Given the description of an element on the screen output the (x, y) to click on. 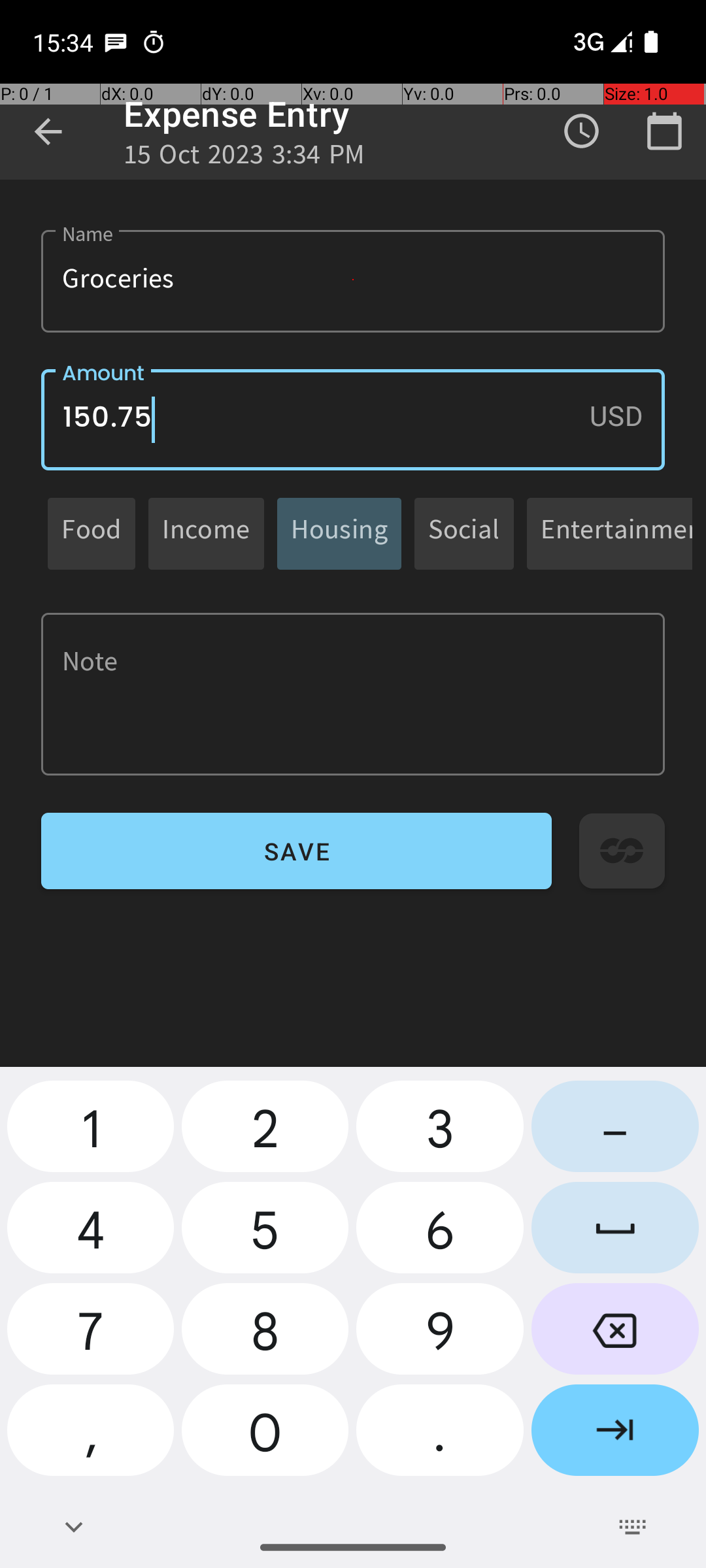
150.75 Element type: android.widget.EditText (352, 419)
